Given the description of an element on the screen output the (x, y) to click on. 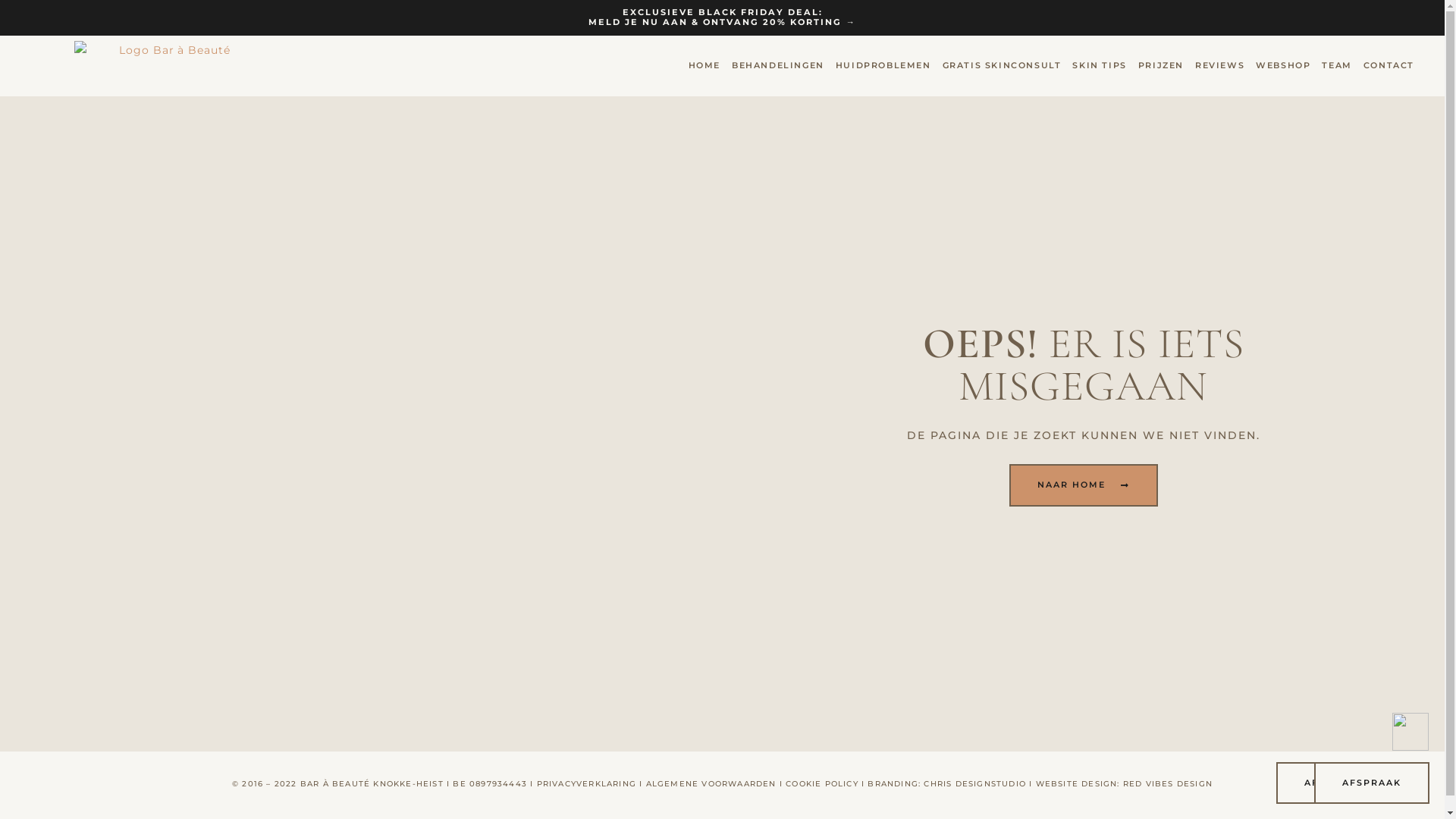
CONTACT Element type: text (1388, 65)
AFSPRAAK Element type: text (1333, 782)
WEBSITE DESIGN: RED VIBES DESIGN Element type: text (1123, 783)
WEBSHOP Element type: text (1282, 65)
HUIDPROBLEMEN Element type: text (883, 65)
REVIEWS Element type: text (1219, 65)
ALGEMENE VOORWAARDEN Element type: text (711, 783)
AFSPRAAK Element type: text (1371, 782)
GRATIS SKINCONSULT Element type: text (1001, 65)
NAAR HOME Element type: text (1083, 485)
COOKIE POLICY Element type: text (821, 783)
PRIVACYVERKLARING Element type: text (586, 783)
TEAM Element type: text (1336, 65)
BEHANDELINGEN Element type: text (777, 65)
PRIJZEN Element type: text (1160, 65)
SKIN TIPS Element type: text (1099, 65)
CHRIS DESIGNSTUDIO Element type: text (973, 783)
HOME Element type: text (704, 65)
